Given the description of an element on the screen output the (x, y) to click on. 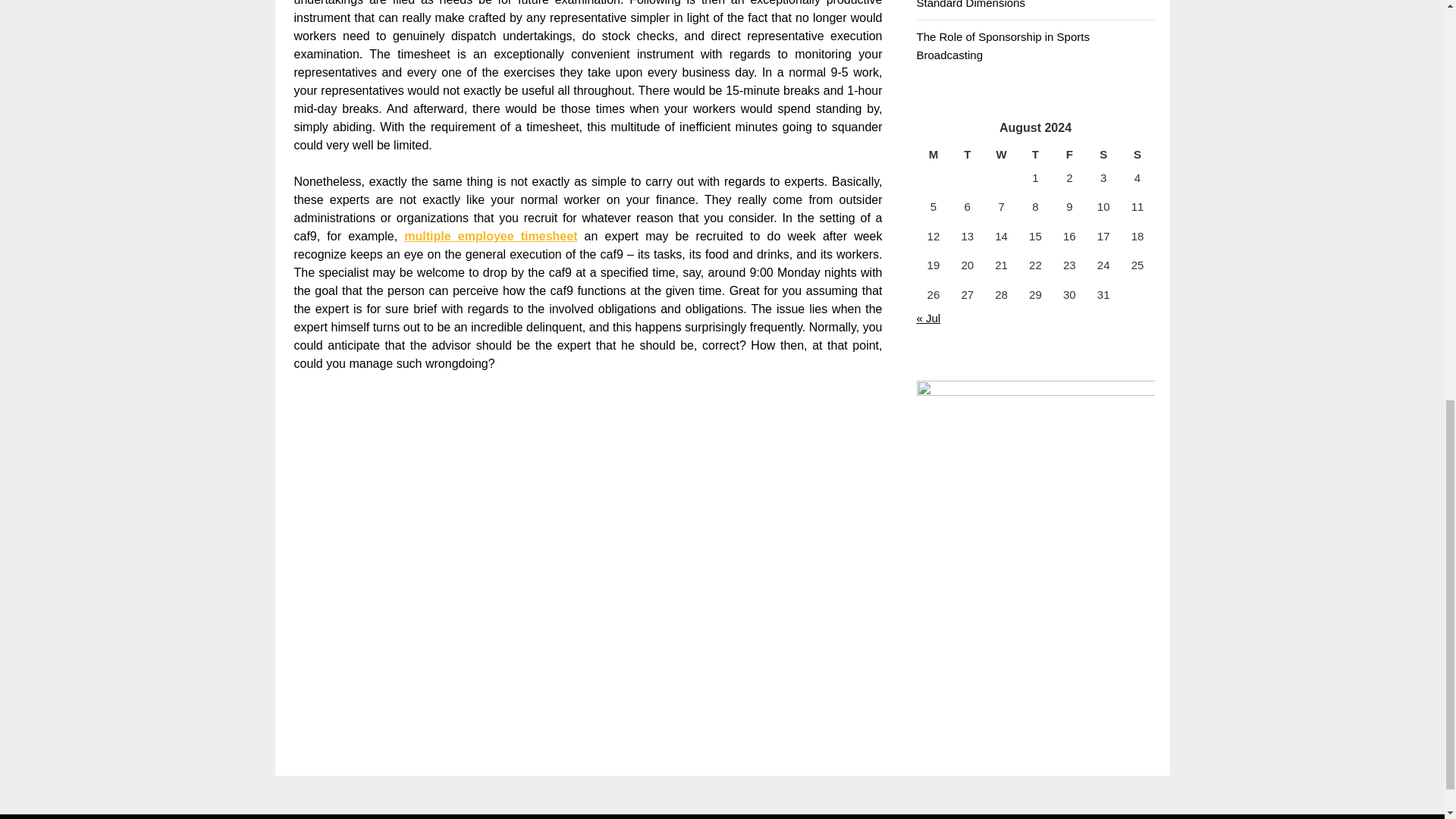
multiple employee timesheet (490, 236)
The Role of Sponsorship in Sports Broadcasting (1002, 45)
Sunday (1137, 154)
Friday (1069, 154)
Saturday (1103, 154)
Tuesday (967, 154)
Thursday (1034, 154)
Monday (932, 154)
Wednesday (1000, 154)
